Given the description of an element on the screen output the (x, y) to click on. 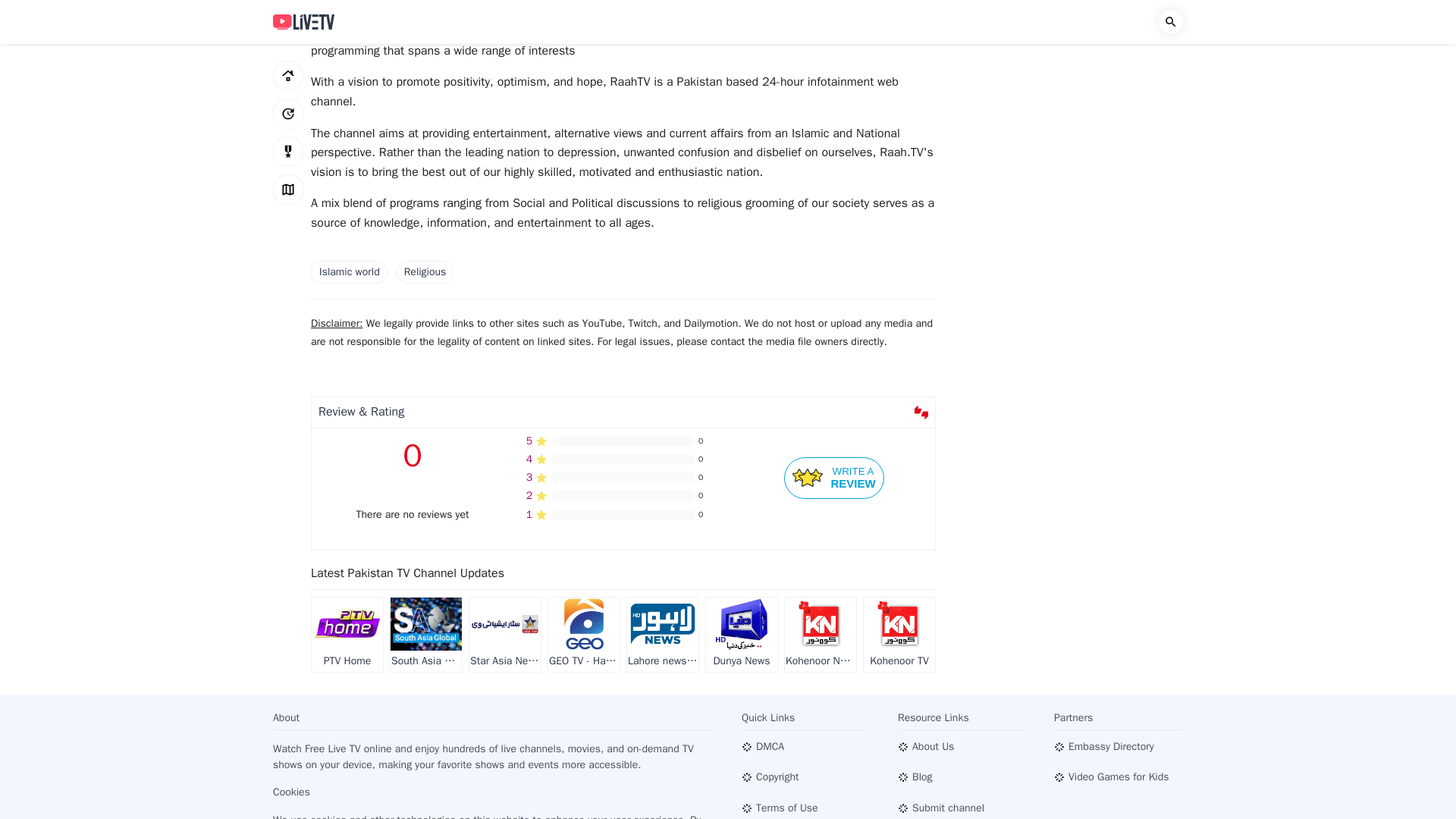
PTV Home (346, 634)
Kohenoor News (820, 634)
South Asia Global TV (425, 634)
Star Asia News (504, 634)
GEO TV - Har Pal Geo (584, 634)
Religious (425, 272)
Kohenoor TV (898, 634)
Dunya News (741, 634)
Islamic world (349, 272)
Lahore news TV (662, 634)
